Given the description of an element on the screen output the (x, y) to click on. 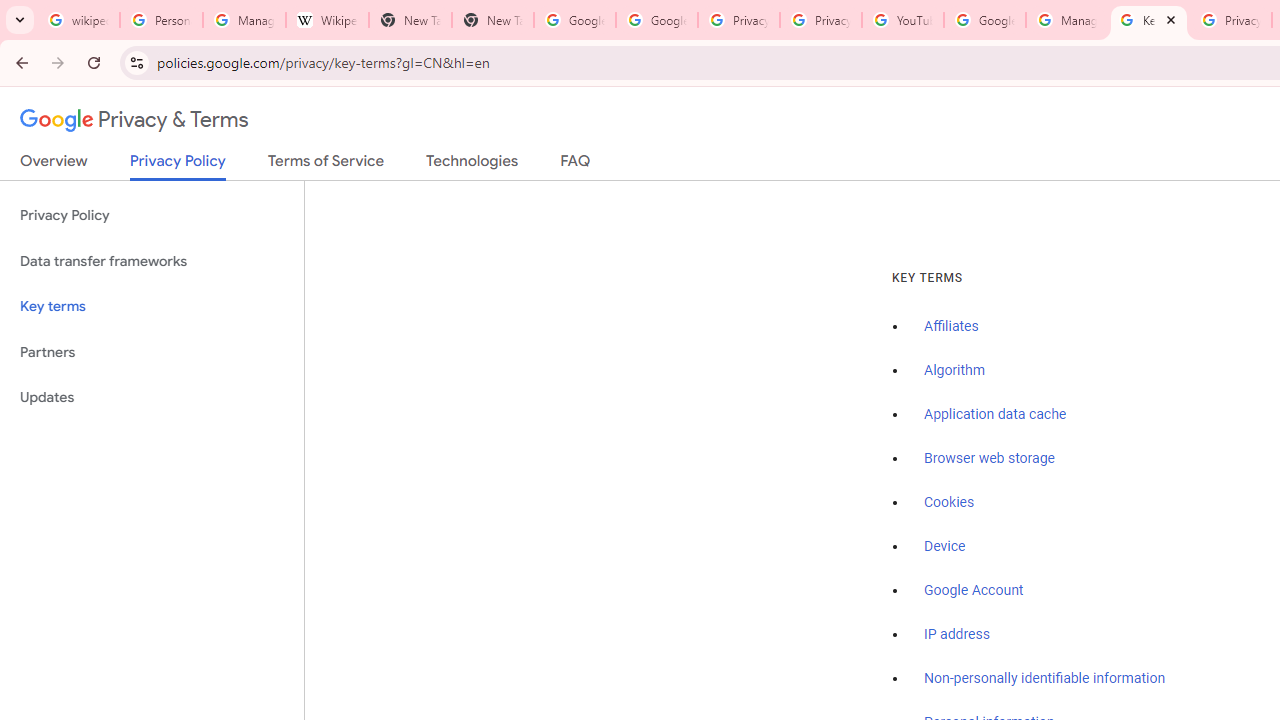
Google Account (974, 590)
Google Drive: Sign-in (656, 20)
New Tab (492, 20)
Application data cache (995, 415)
Personalization & Google Search results - Google Search Help (161, 20)
